Given the description of an element on the screen output the (x, y) to click on. 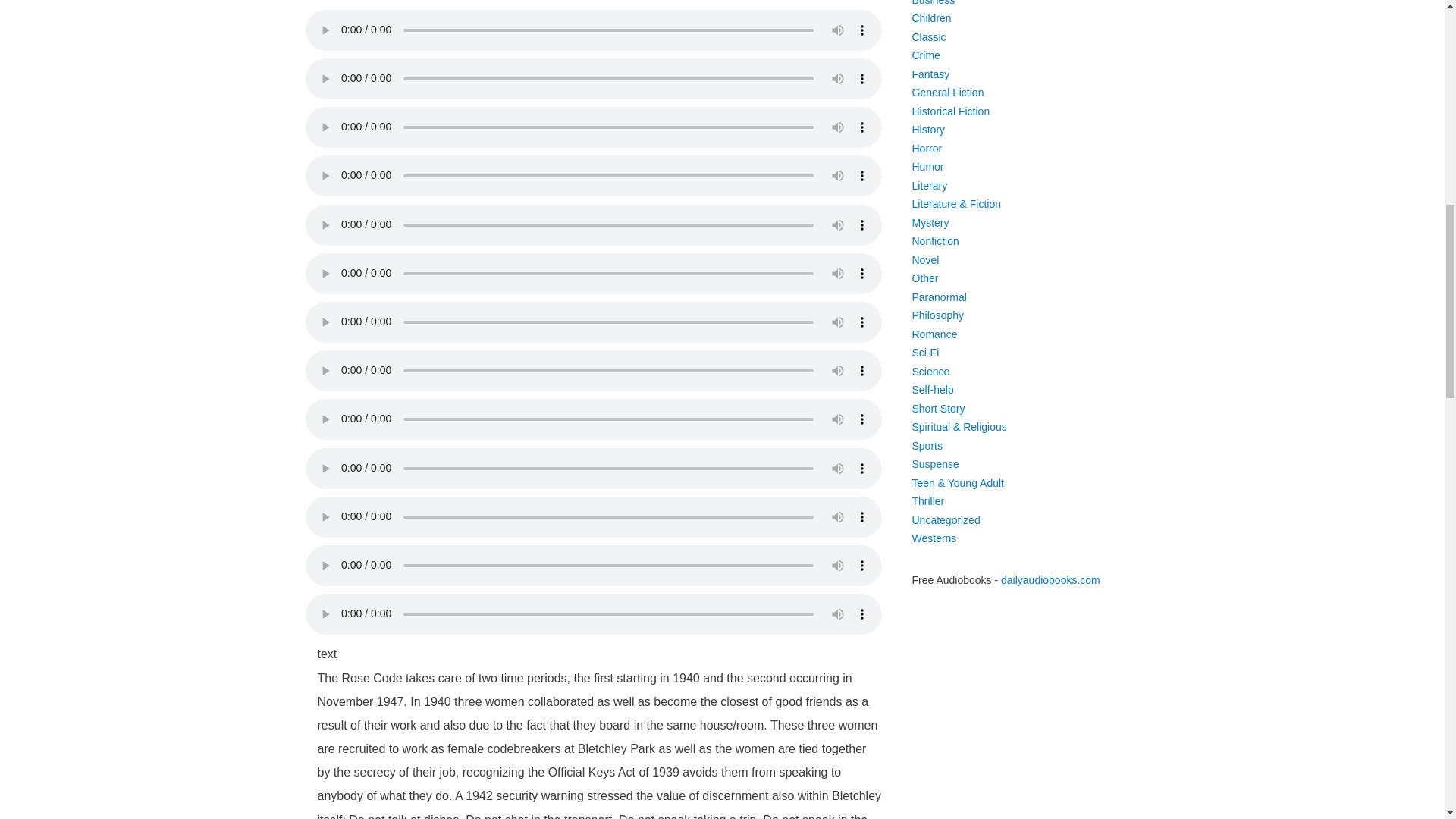
text (320, 657)
